Given the description of an element on the screen output the (x, y) to click on. 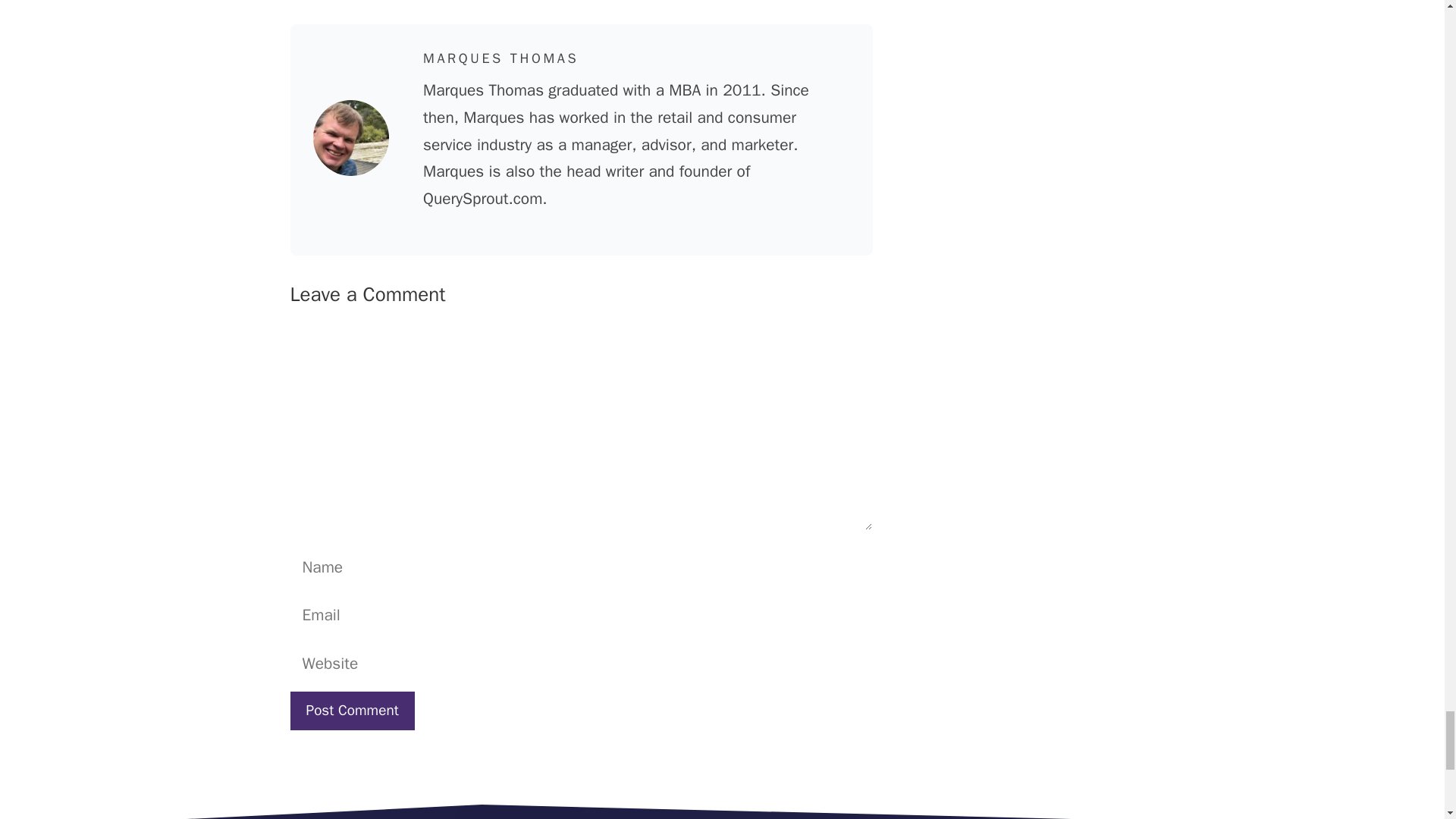
Post Comment (351, 710)
